Given the description of an element on the screen output the (x, y) to click on. 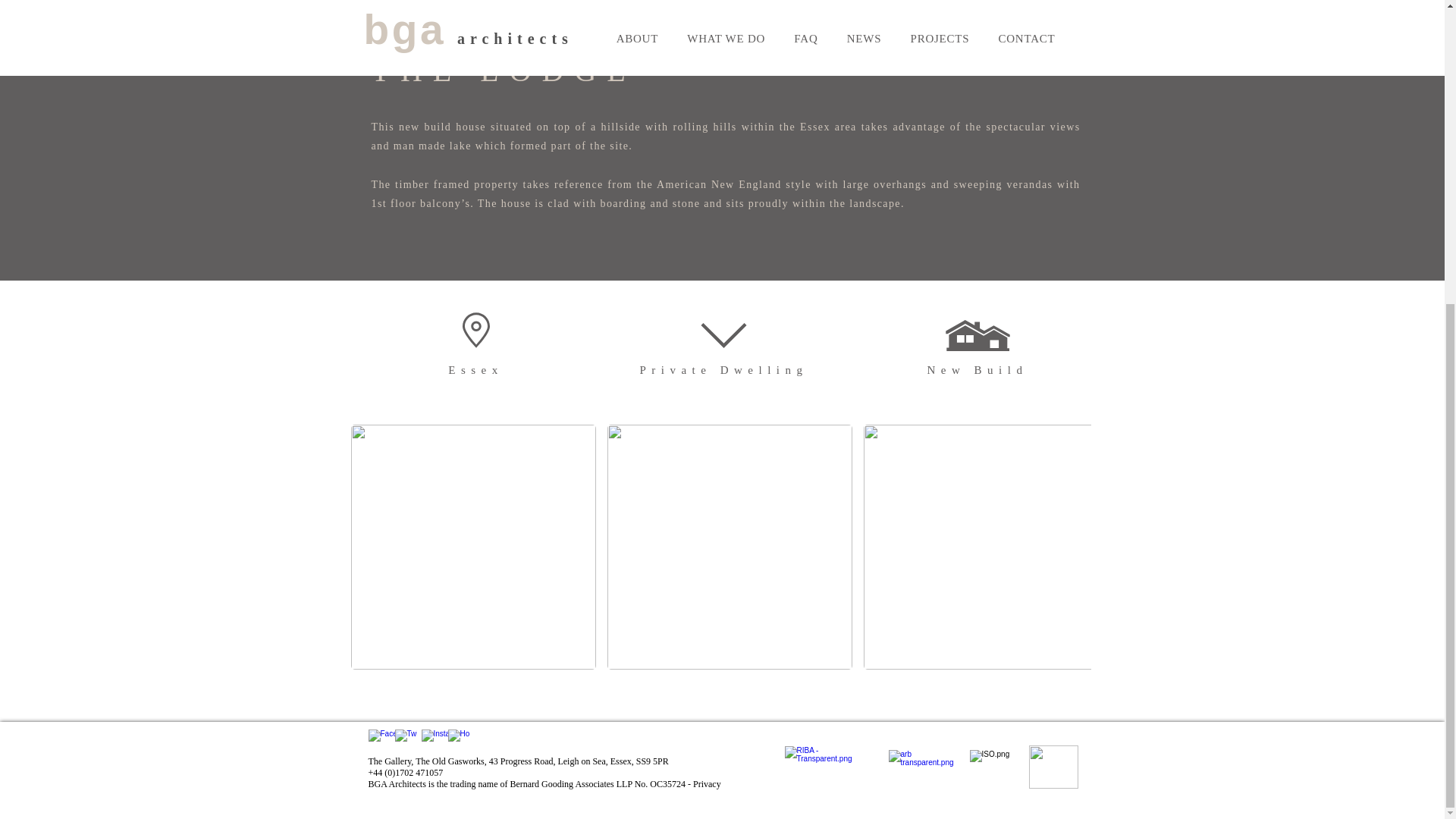
1 - Copy.jpg (1052, 766)
Privacy (706, 783)
